Given the description of an element on the screen output the (x, y) to click on. 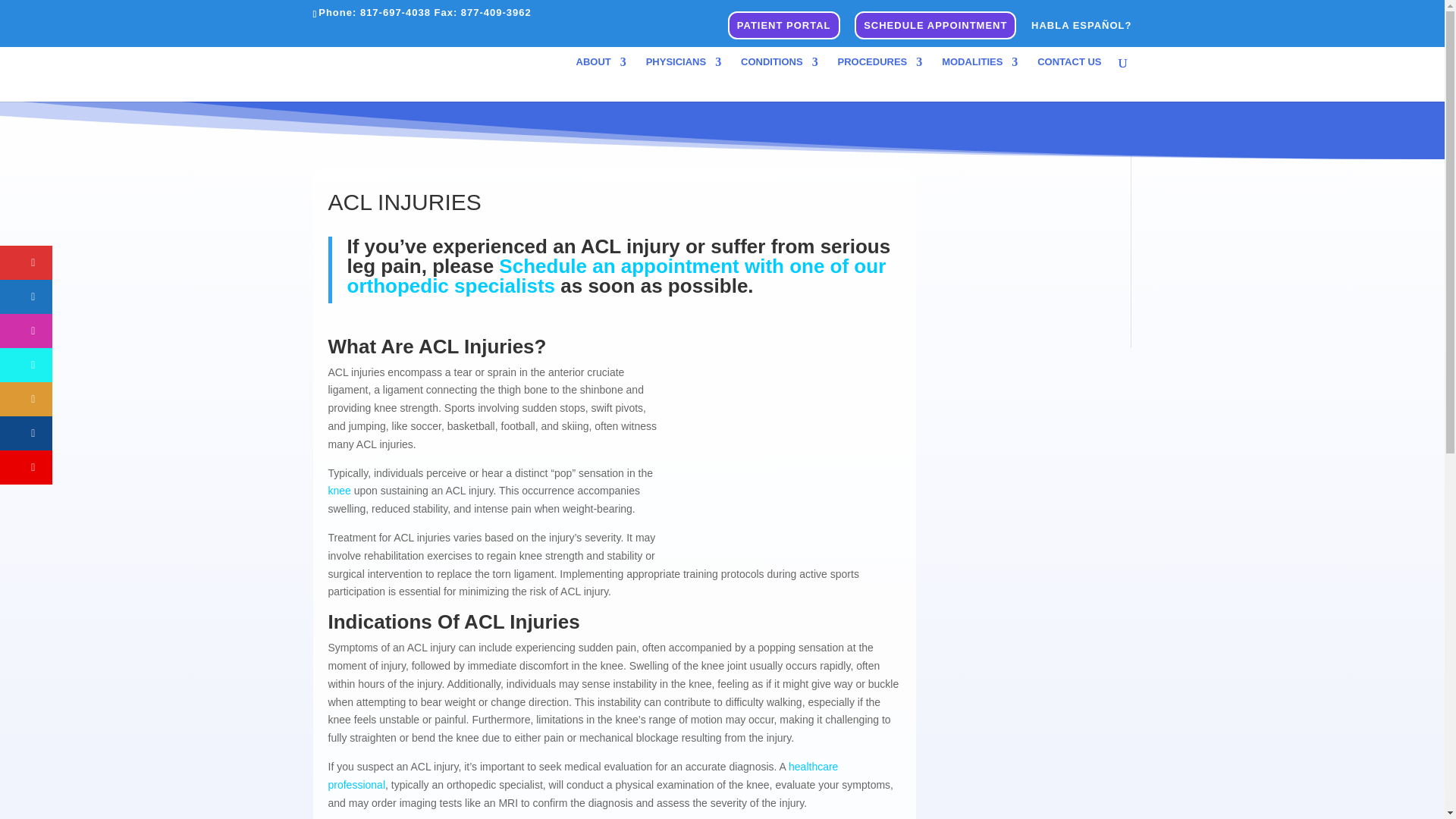
PROCEDURES (880, 78)
PHYSICIANS (683, 78)
MODALITIES (979, 78)
SCHEDULE APPOINTMENT (935, 28)
CONTACT US (1068, 78)
ABOUT (601, 78)
CONDITIONS (779, 78)
PATIENT PORTAL (783, 28)
Spanish (1080, 28)
